Given the description of an element on the screen output the (x, y) to click on. 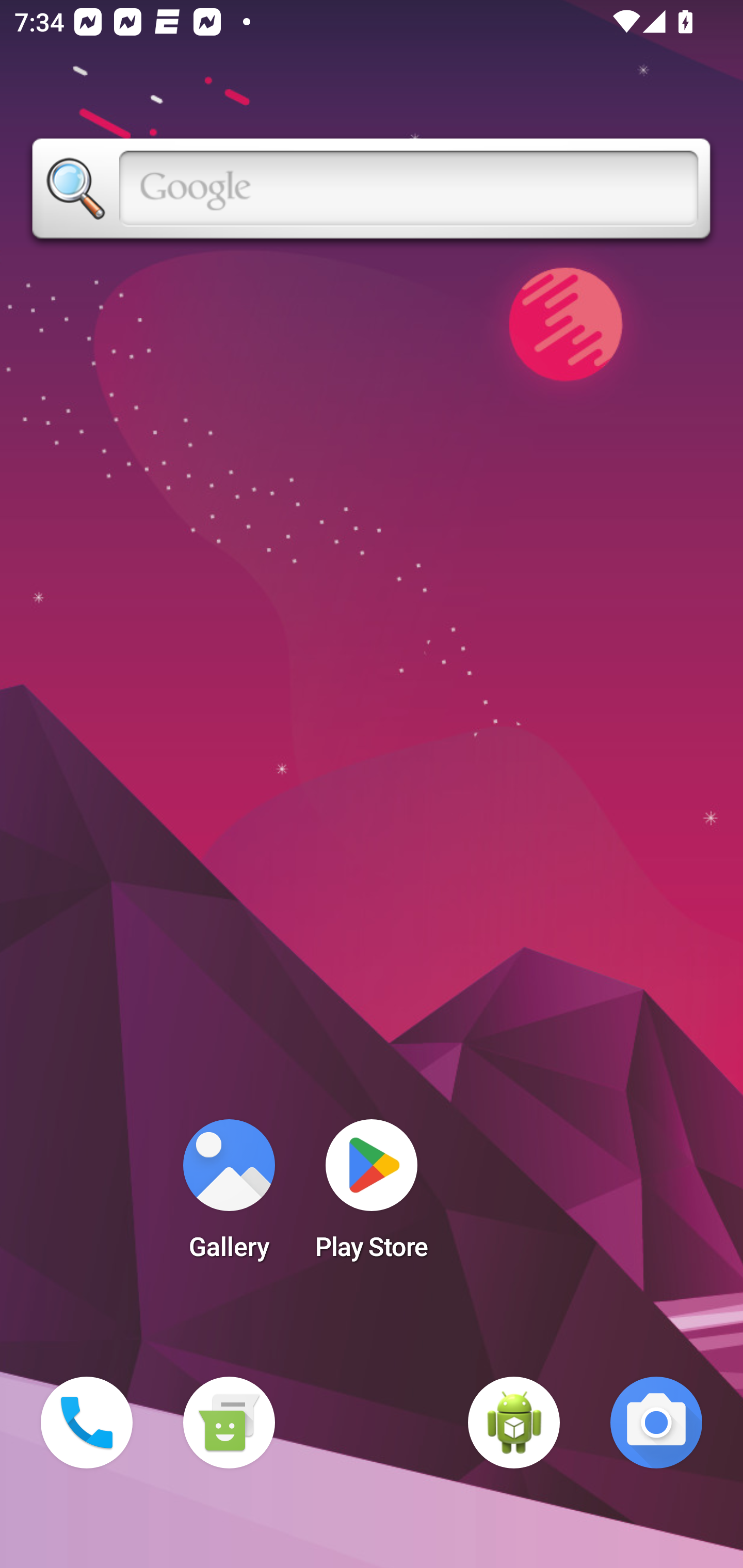
Gallery (228, 1195)
Play Store (371, 1195)
Phone (86, 1422)
Messaging (228, 1422)
WebView Browser Tester (513, 1422)
Camera (656, 1422)
